Given the description of an element on the screen output the (x, y) to click on. 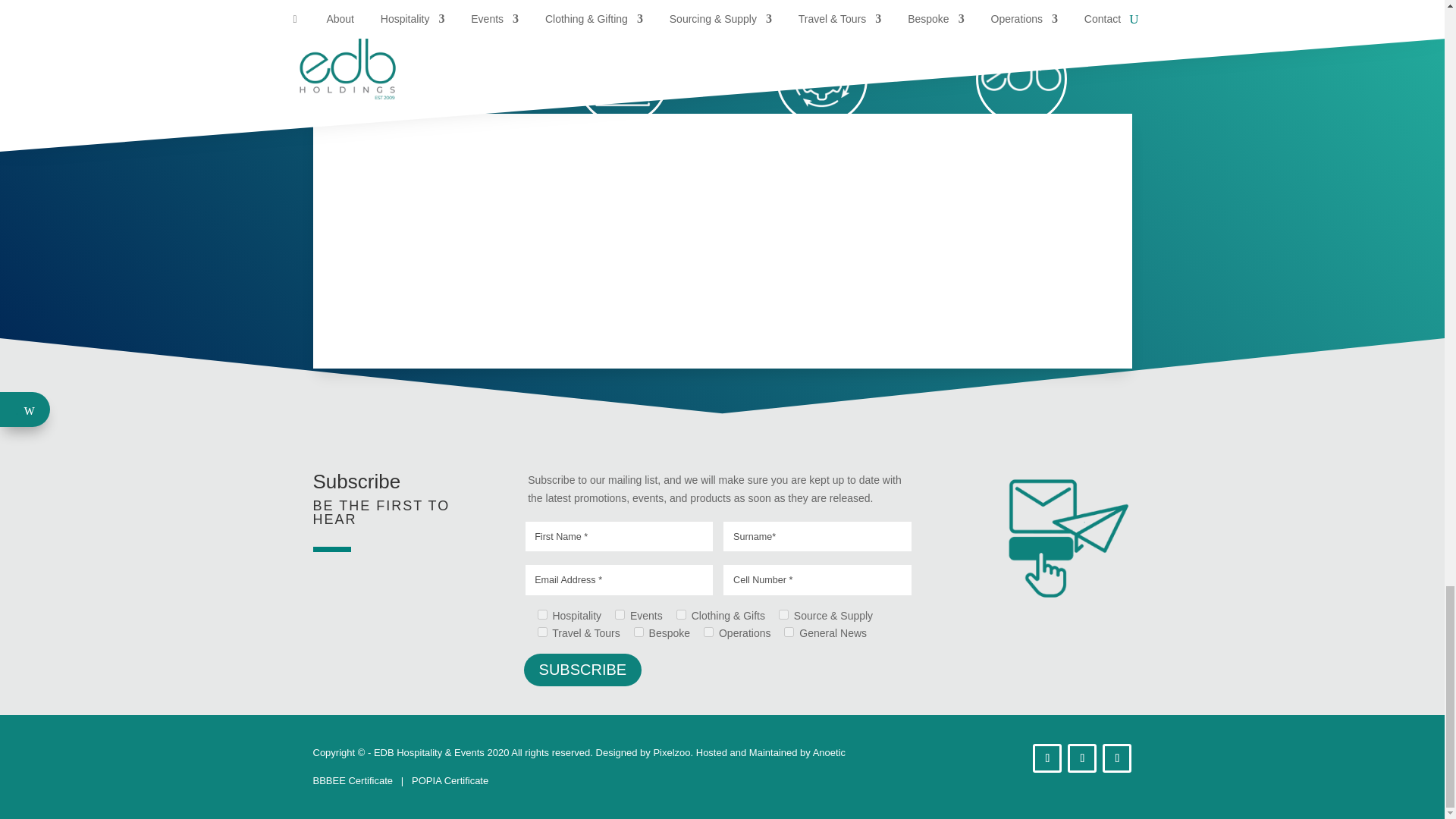
Events (619, 614)
Hospitality (542, 614)
Bespoke (638, 632)
General News (788, 632)
Subscribe (583, 669)
Operations (708, 632)
icon-travel-and-tours-edb-white (422, 79)
